Given the description of an element on the screen output the (x, y) to click on. 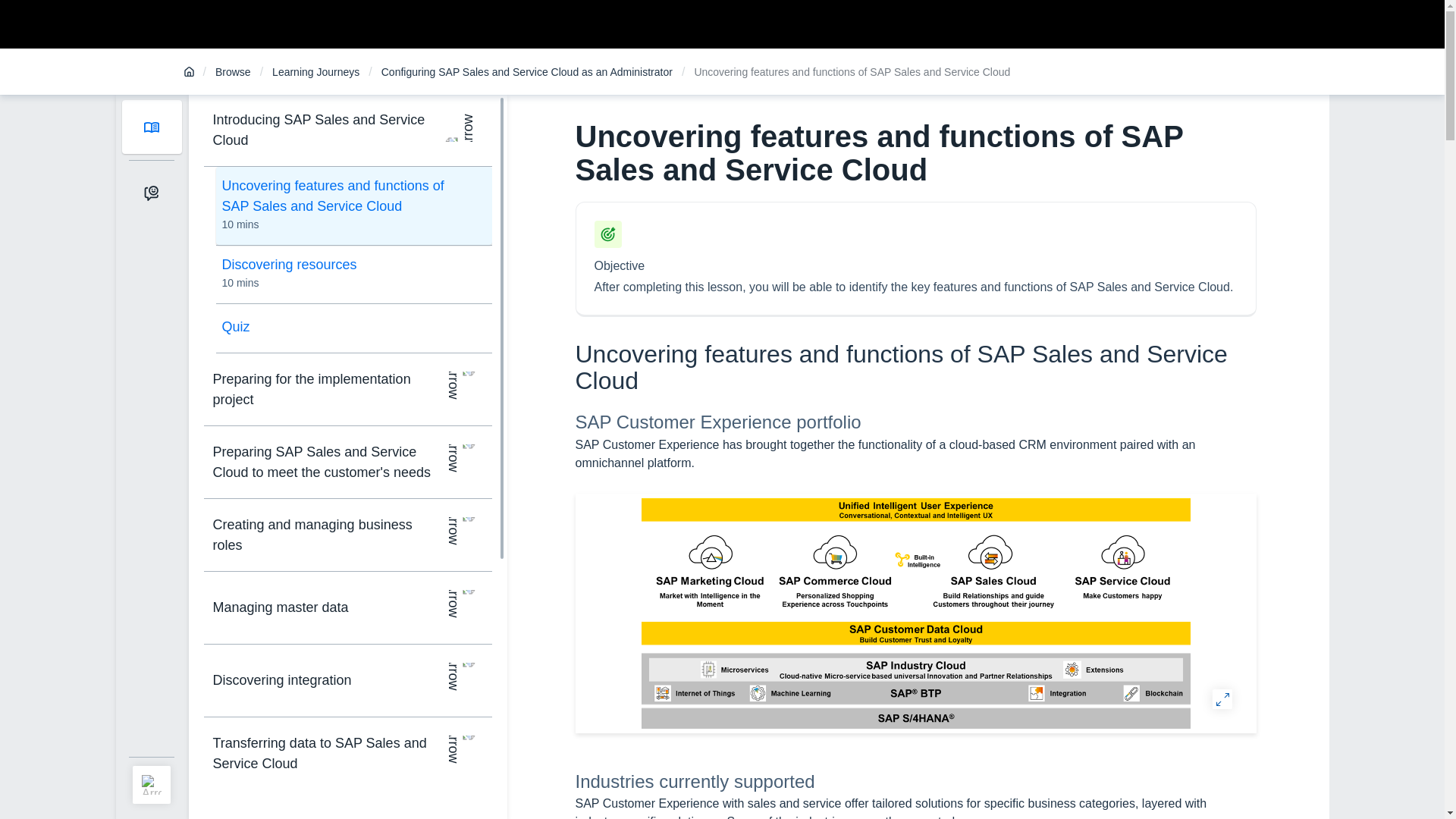
Learning Journeys (315, 72)
Browse (232, 72)
Browse (232, 72)
Quiz (351, 272)
Configuring SAP Sales and Service Cloud as an Administrator (351, 326)
Configuring SAP Sales and Service Cloud as an Administrator (526, 72)
Learning Journeys (526, 72)
